Given the description of an element on the screen output the (x, y) to click on. 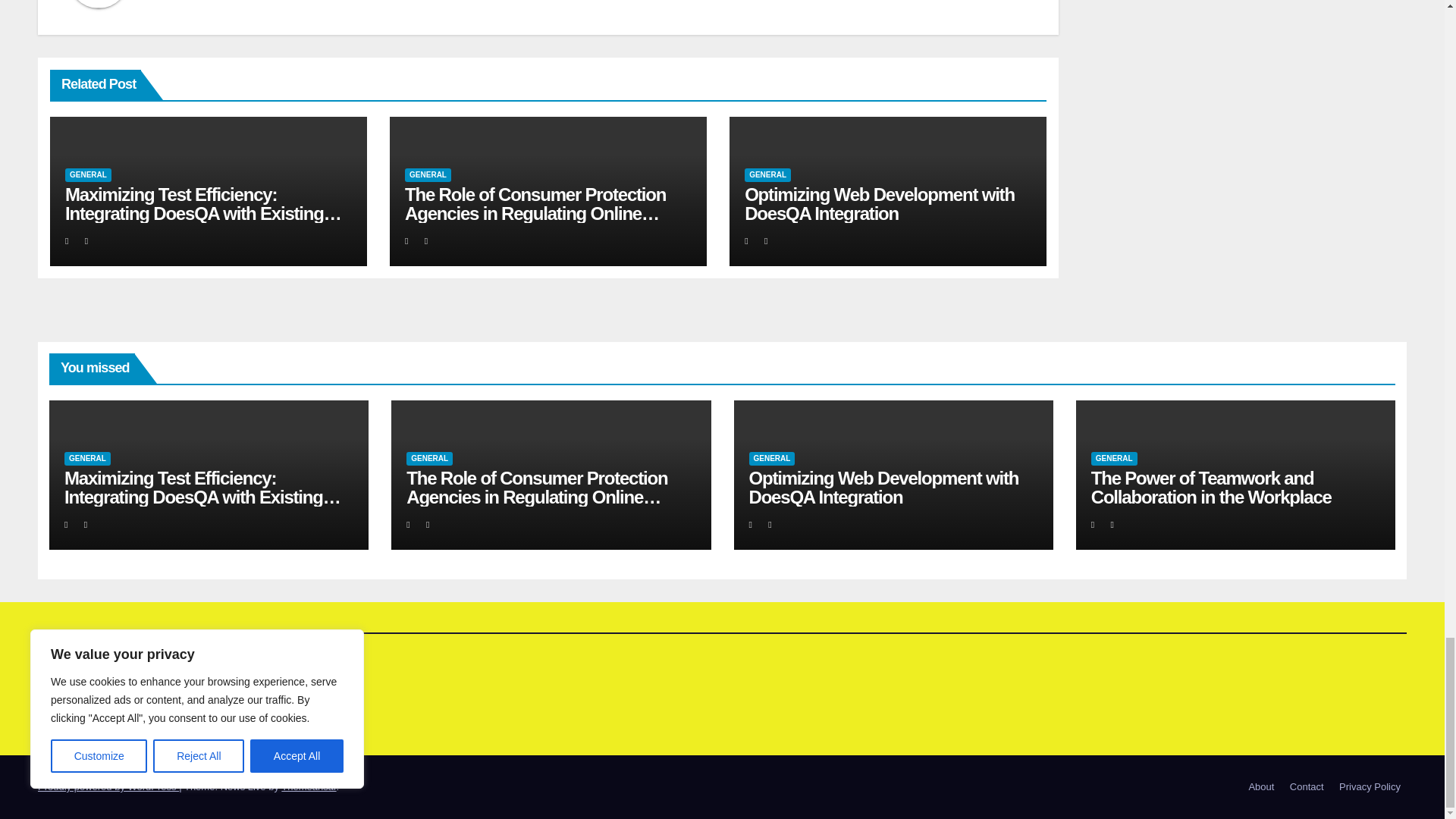
Contact (1307, 786)
About (1260, 786)
Privacy Policy (1369, 786)
